Given the description of an element on the screen output the (x, y) to click on. 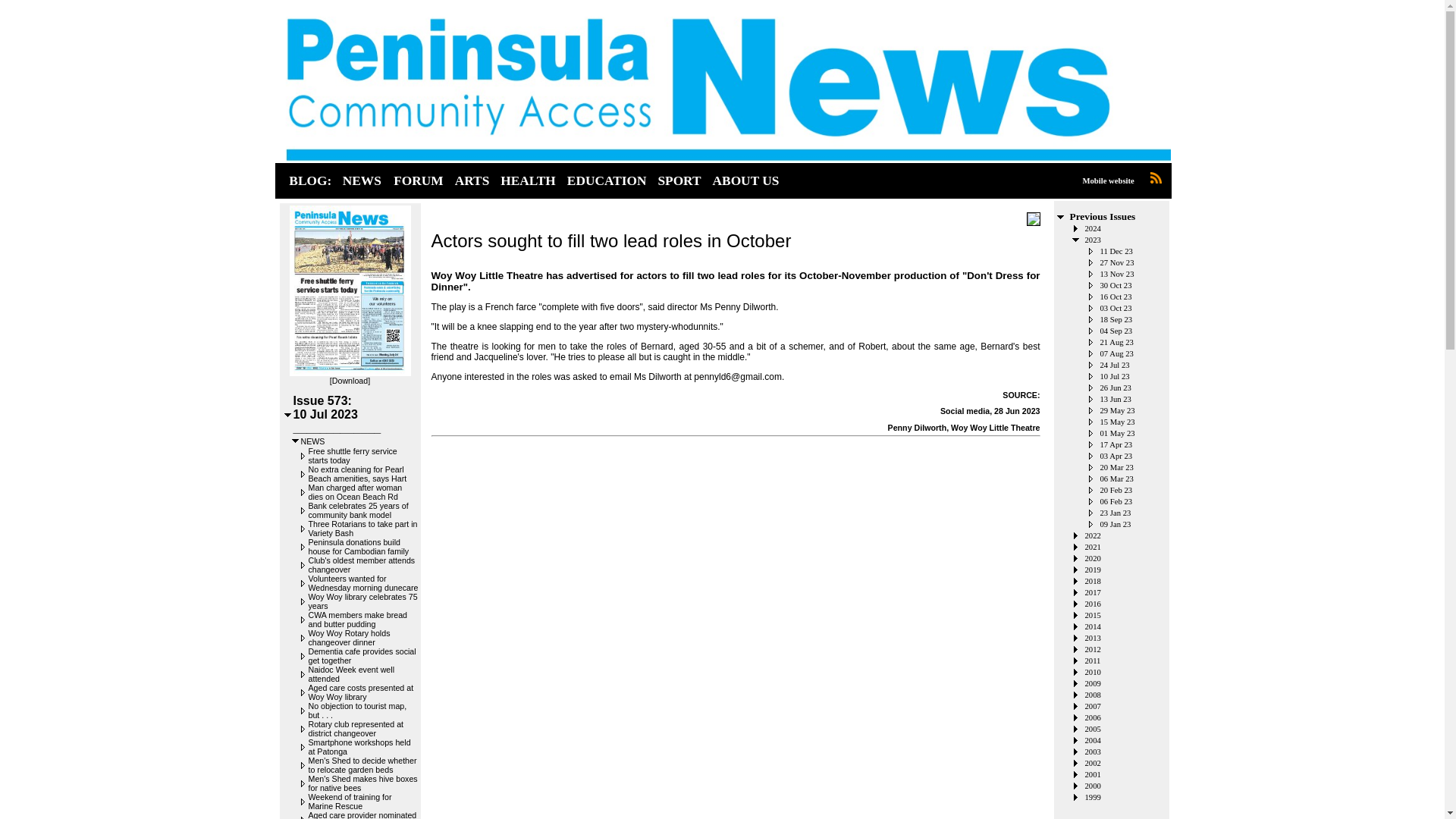
NEWS (311, 440)
Free shuttle ferry service starts today (351, 455)
ABOUT US (745, 180)
Men's Shed to decide whether to relocate garden beds (361, 764)
NEWS (361, 180)
Dementia cafe provides social get together (360, 656)
FORUM (417, 180)
SPORT (678, 180)
No extra cleaning for Pearl Beach amenities, says Hart (356, 474)
HEALTH (528, 180)
